Given the description of an element on the screen output the (x, y) to click on. 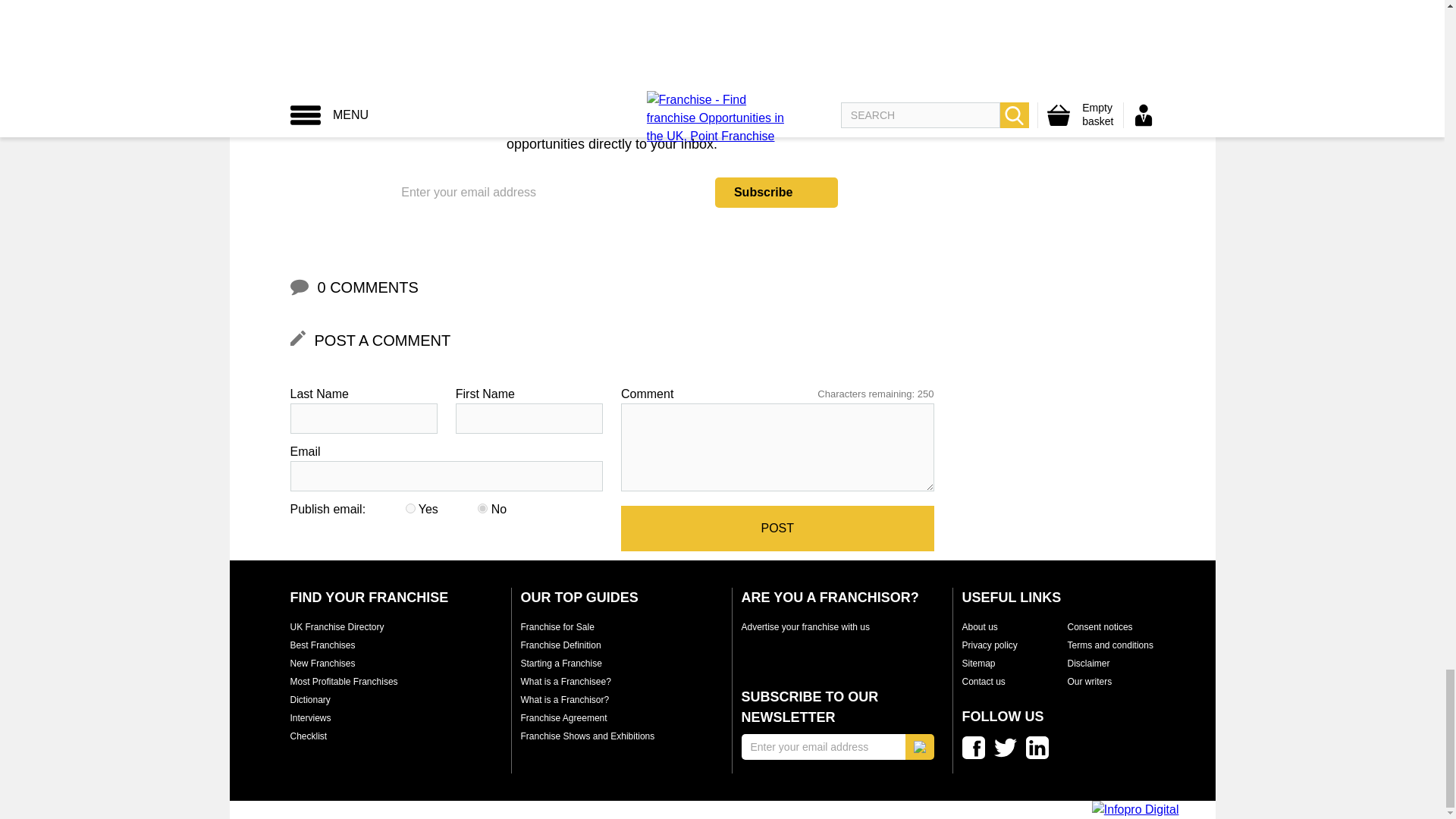
Find the most profitable UK franchises (343, 681)
Discover UK's best franchises (322, 644)
Discover the newest franchises (322, 663)
Interviews (309, 717)
1 (410, 508)
0 (482, 508)
Checklist (307, 736)
The full UK franchise directory (336, 626)
Dictionary (309, 699)
